Given the description of an element on the screen output the (x, y) to click on. 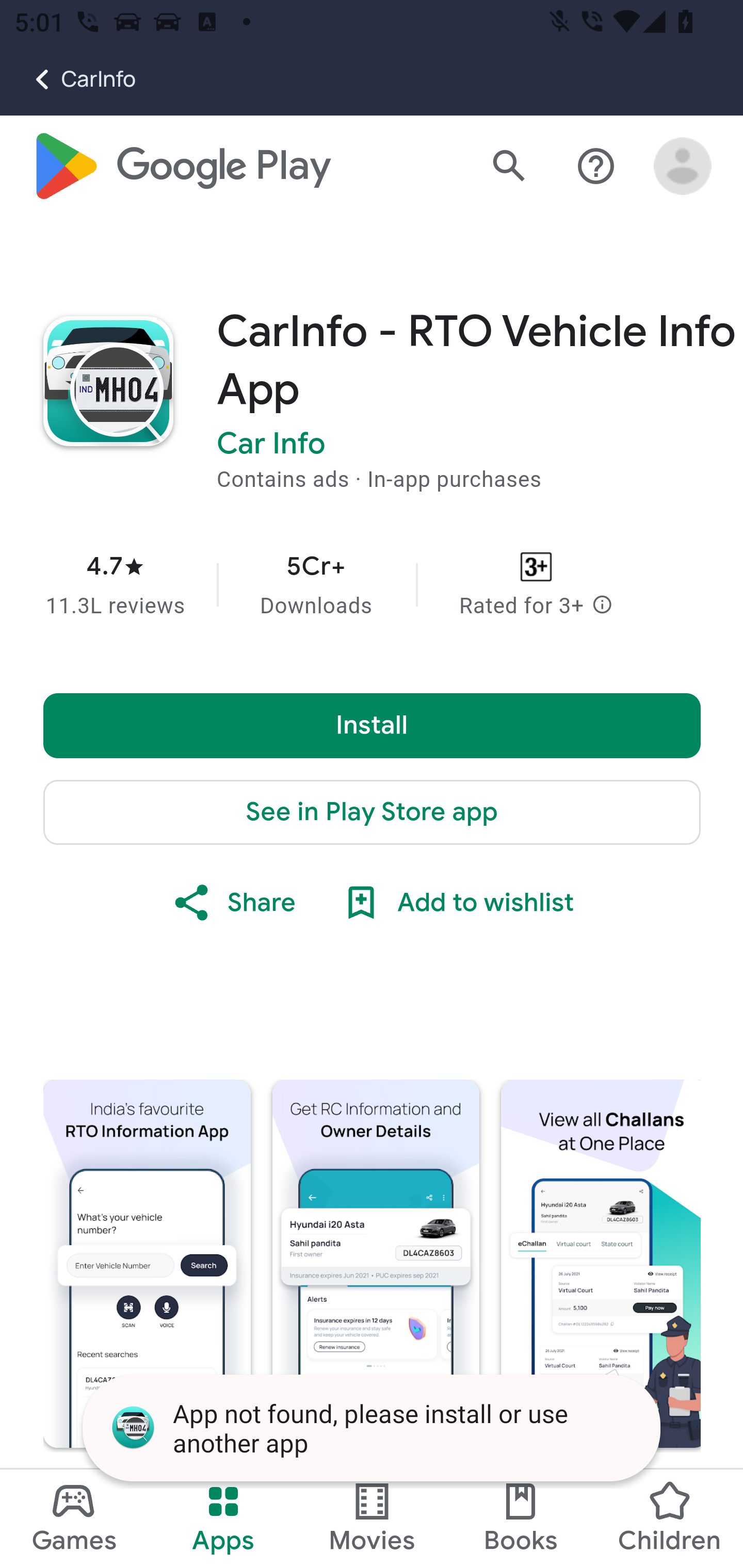
CarInfo (67, 79)
Google Play logo (180, 166)
Search (508, 166)
Help centre (596, 166)
Open account menu (682, 166)
Car Info (271, 445)
More info about this content rating (601, 606)
Install (372, 726)
See in Play Store app (372, 812)
Share (233, 903)
Add to wishlist (455, 903)
Screenshot image (147, 1263)
Screenshot image (375, 1263)
Screenshot image (601, 1263)
Games (74, 1518)
Apps (222, 1518)
Movies (372, 1518)
Books (520, 1518)
Children (668, 1518)
